Given the description of an element on the screen output the (x, y) to click on. 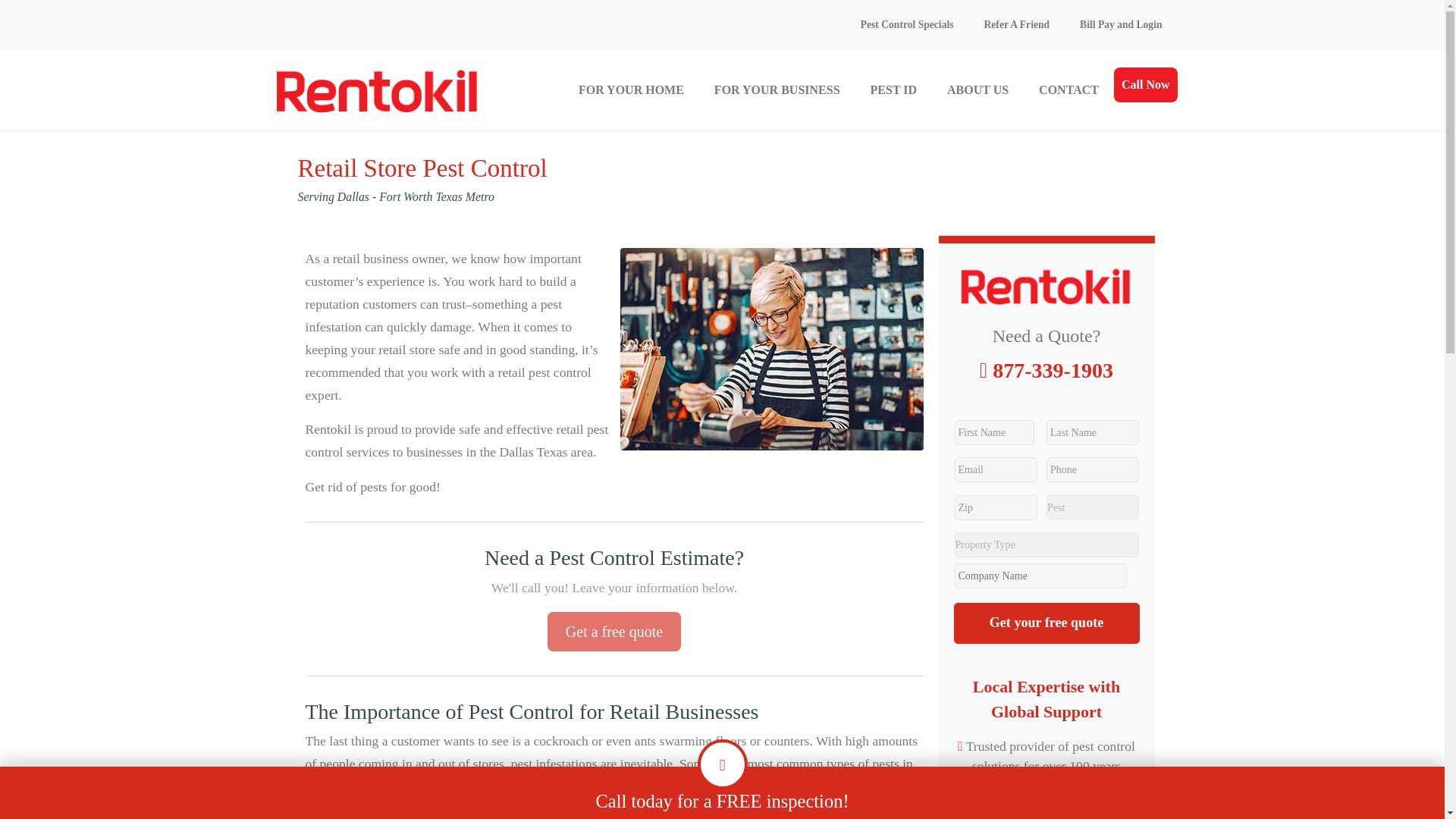
Pest Control Specials (907, 24)
FOR YOUR HOME (630, 89)
PEST ID (894, 89)
FOR YOUR BUSINESS (777, 89)
Refer A Friend (1017, 24)
Get your free quote (1046, 622)
Bill Pay and Login (1120, 24)
